Given the description of an element on the screen output the (x, y) to click on. 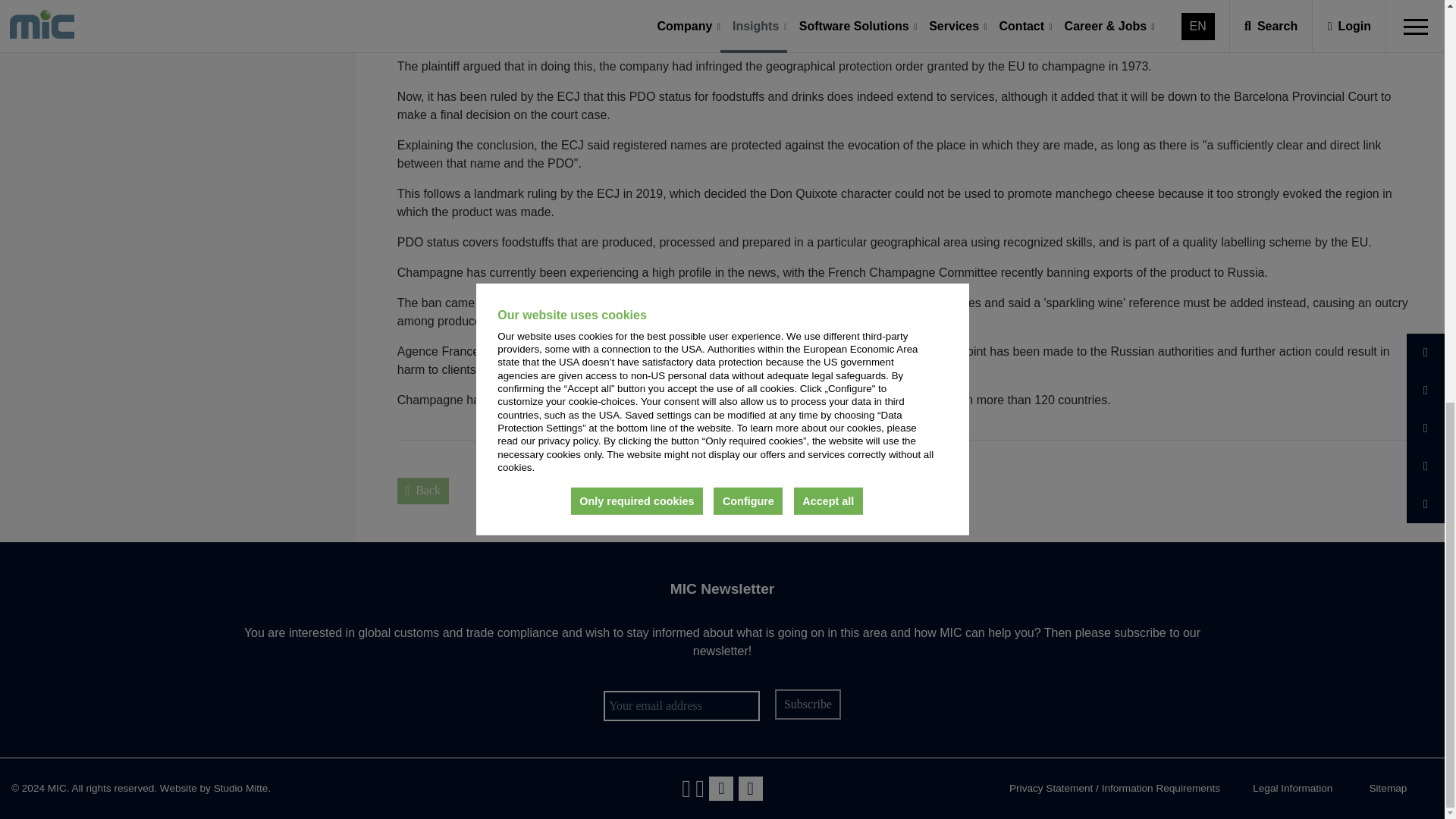
Subscribe (807, 704)
